Given the description of an element on the screen output the (x, y) to click on. 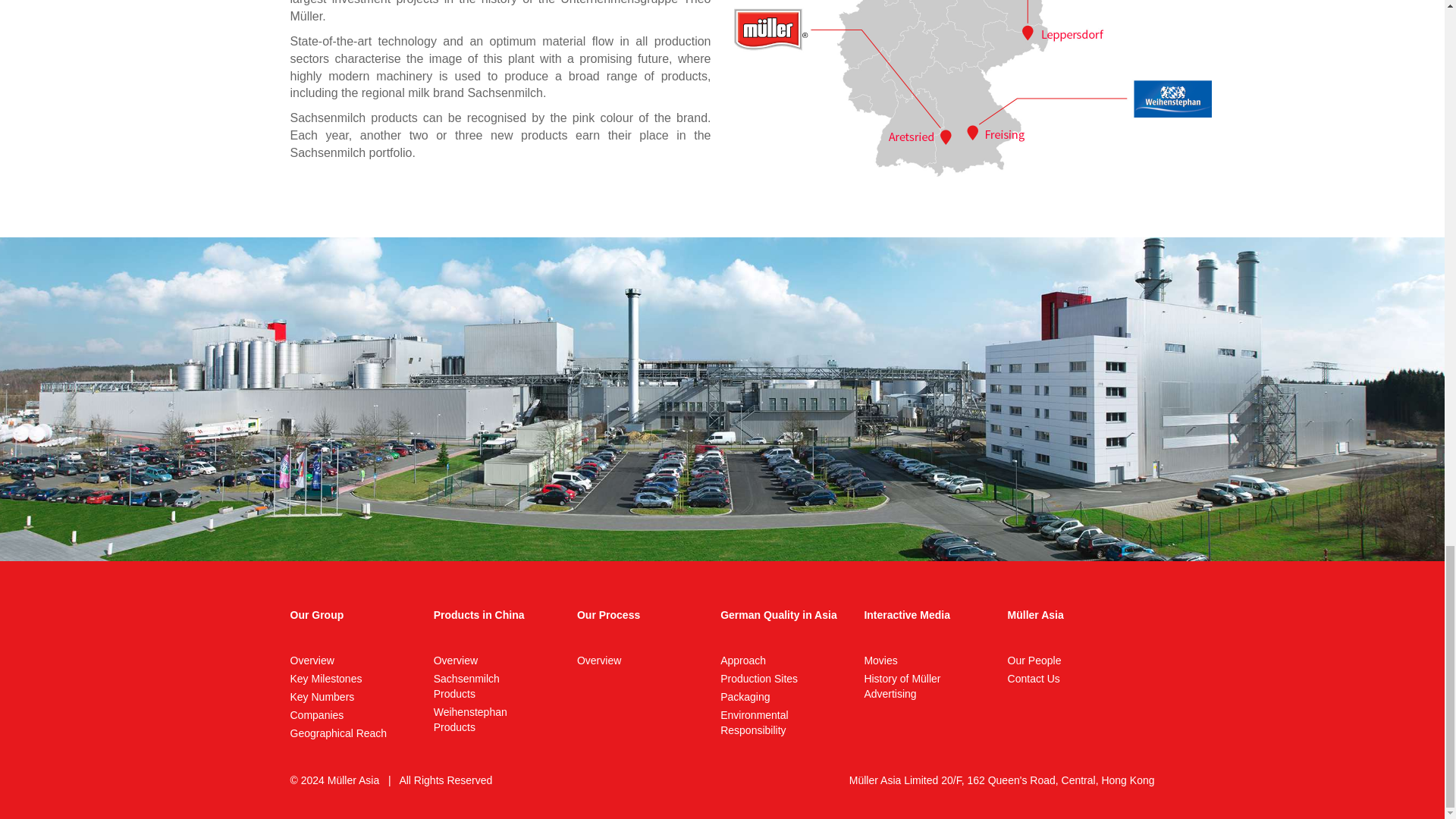
Products in China (478, 614)
Environmental Responsibility (754, 722)
Approach (742, 660)
Overview (598, 660)
Our Group (316, 614)
Contact Us (1033, 678)
Overview (311, 660)
Our People (1034, 660)
Key Milestones (325, 678)
Movies (879, 660)
Interactive Media (906, 614)
Geographical Reach (466, 686)
Overview (338, 733)
Packaging (455, 660)
